Given the description of an element on the screen output the (x, y) to click on. 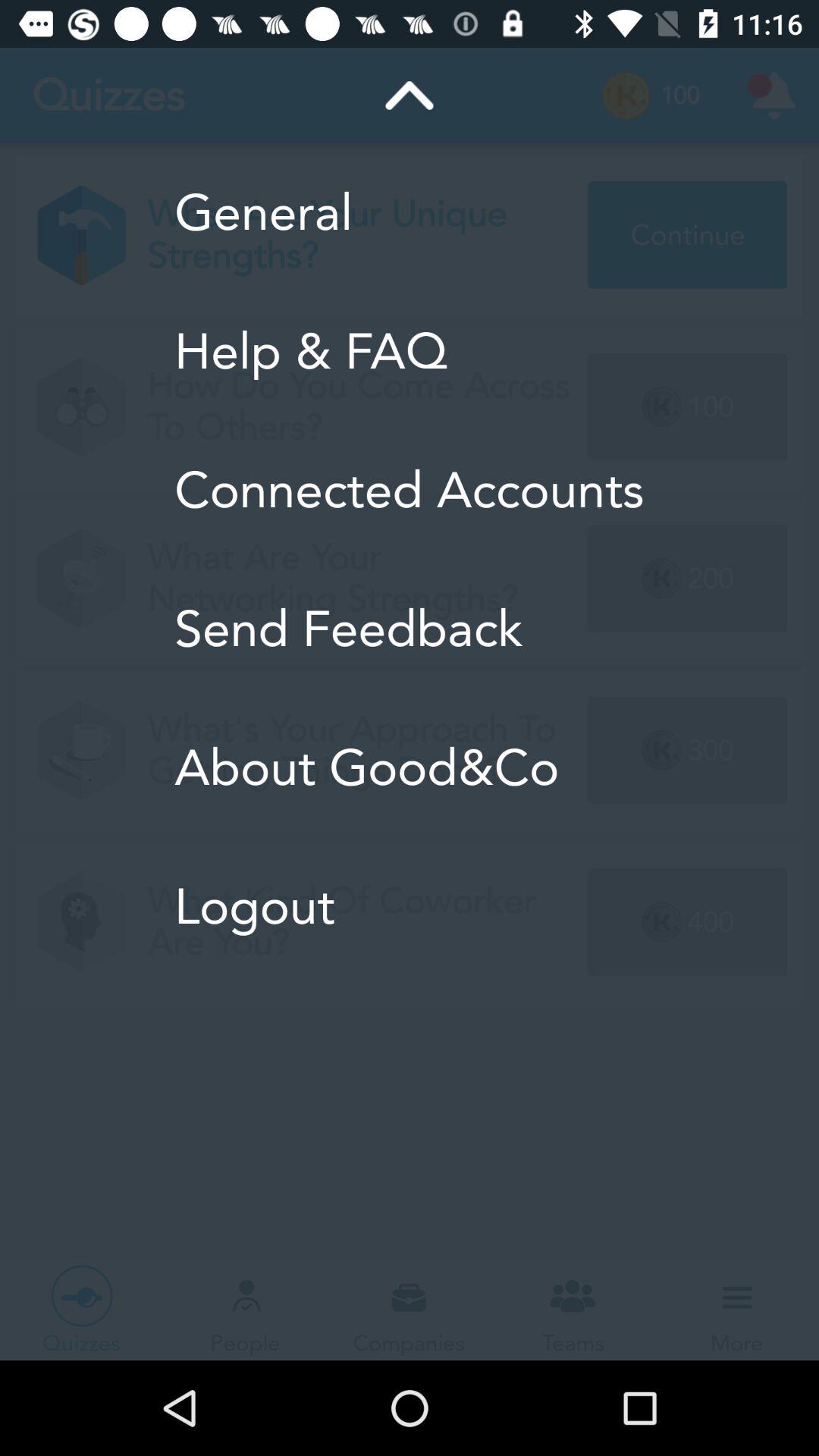
click icon below the general icon (408, 351)
